Given the description of an element on the screen output the (x, y) to click on. 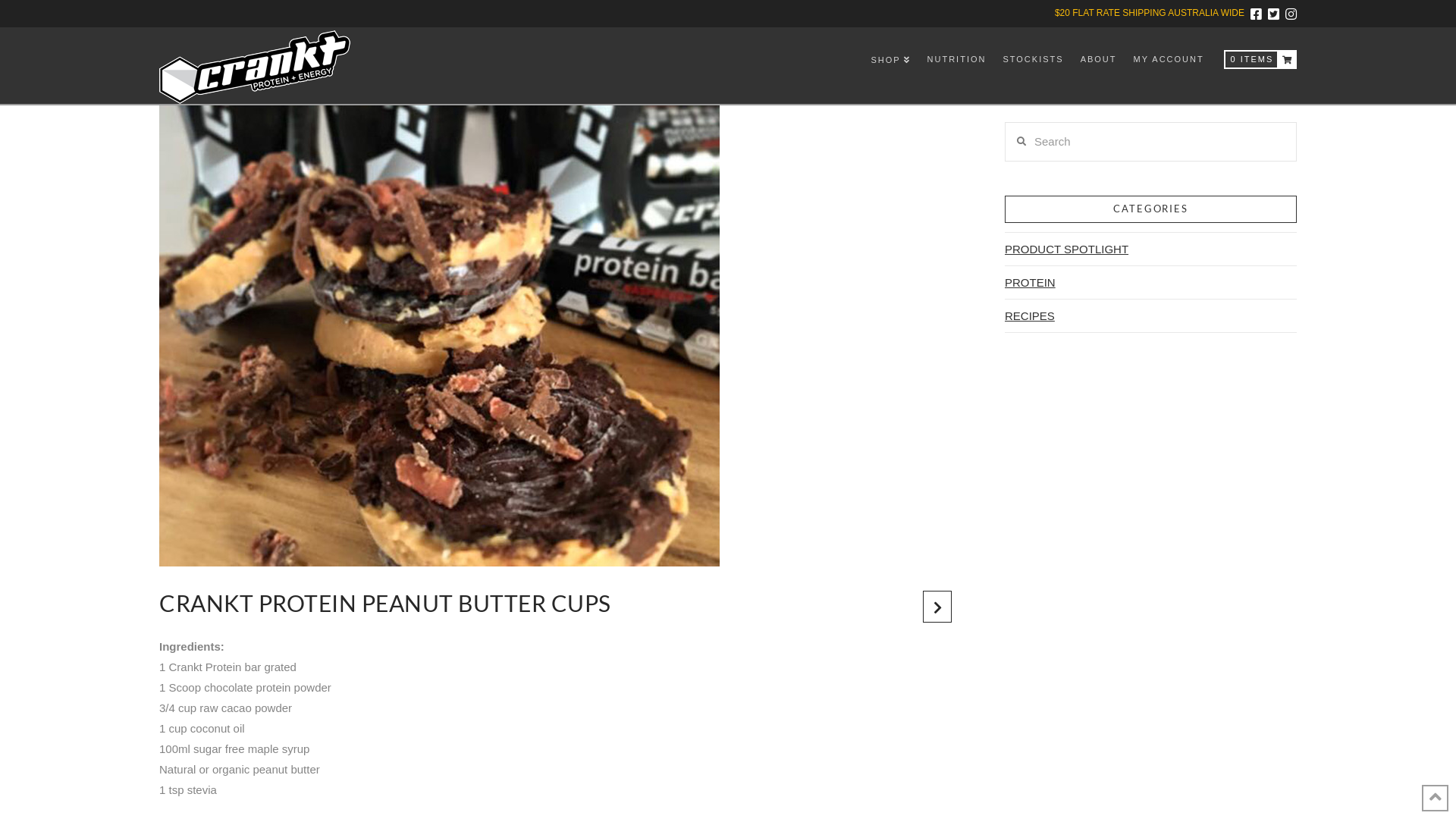
MY ACCOUNT Element type: text (1167, 61)
Facebook Element type: hover (1255, 13)
PROTEIN Element type: text (1029, 282)
ABOUT Element type: text (1097, 61)
SHOP Element type: text (889, 61)
NUTRITION Element type: text (956, 61)
STOCKISTS Element type: text (1031, 61)
0 ITEMS Element type: text (1259, 61)
PRODUCT SPOTLIGHT Element type: text (1066, 248)
Back to Top Element type: hover (1434, 797)
Instagram Element type: hover (1290, 13)
RECIPES Element type: text (1029, 315)
Twitter Element type: hover (1273, 13)
